Given the description of an element on the screen output the (x, y) to click on. 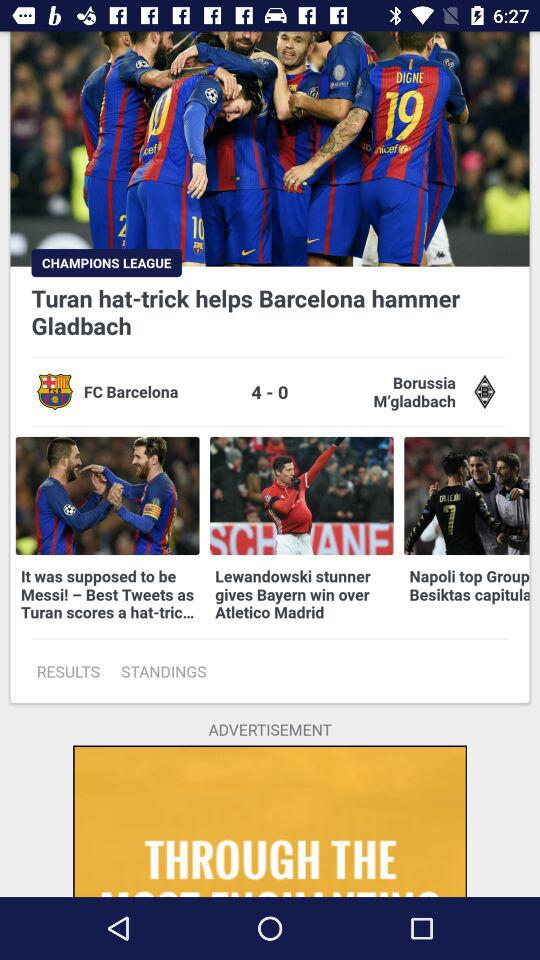
tap the icon below the advertisement (269, 820)
